Given the description of an element on the screen output the (x, y) to click on. 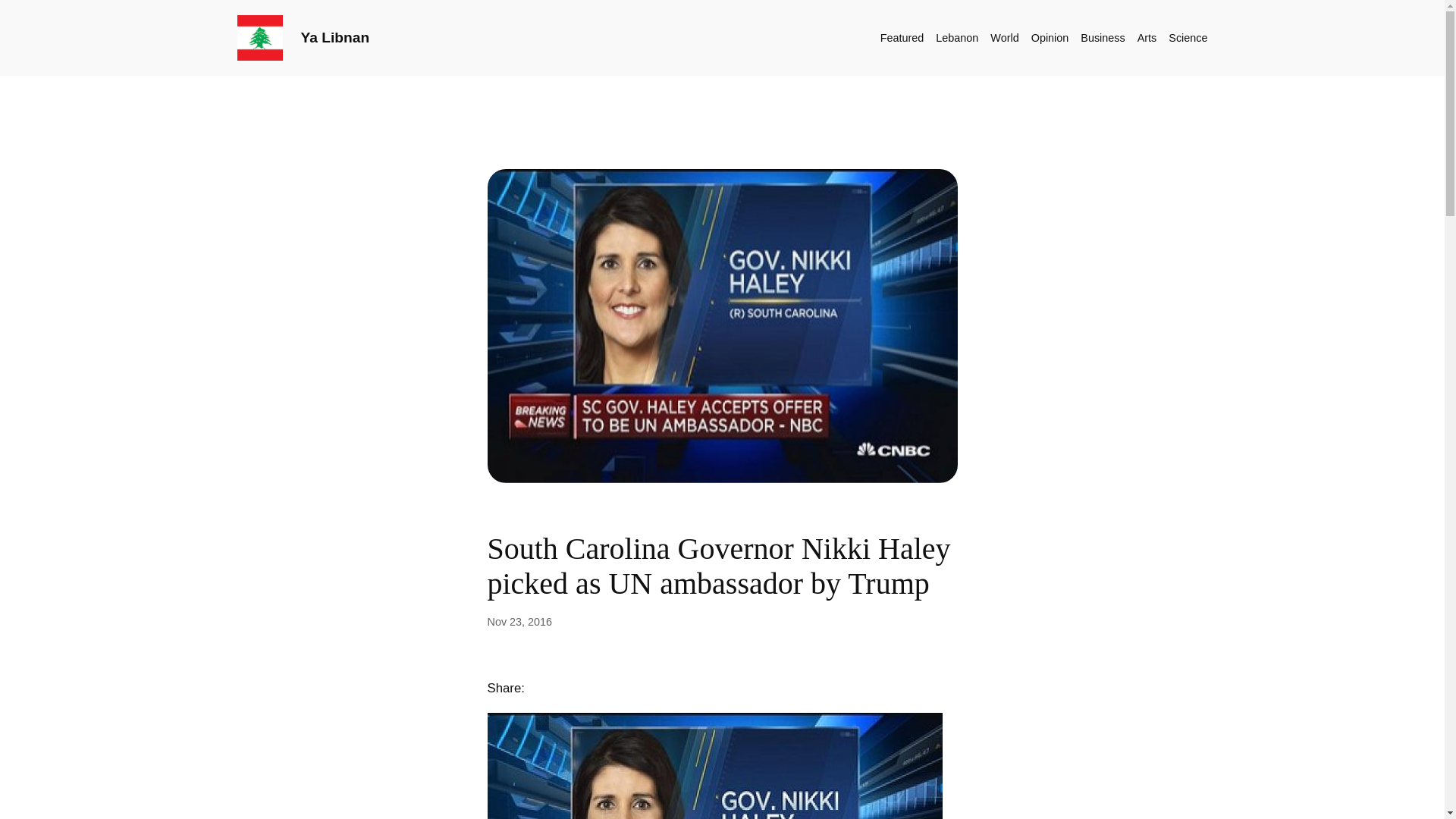
Nov 23, 2016 (518, 621)
Ya Libnan (334, 37)
Opinion (1049, 37)
Business (1102, 37)
Science (1188, 37)
Featured (902, 37)
World (1003, 37)
Lebanon (957, 37)
Arts (1147, 37)
